Given the description of an element on the screen output the (x, y) to click on. 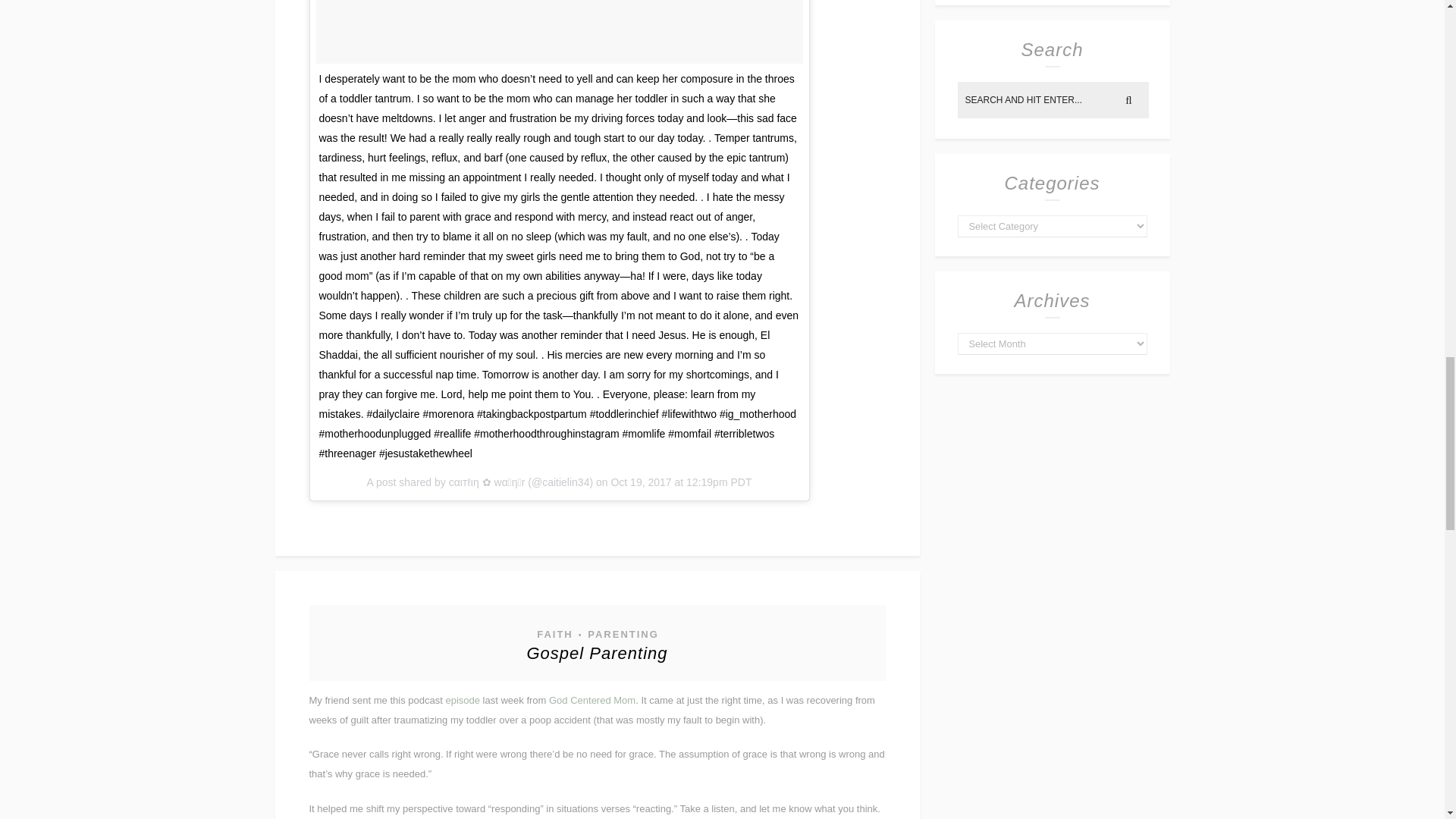
Gospel Parenting (595, 652)
God Centered Mom (591, 699)
Search and hit enter... (1052, 99)
PARENTING (621, 634)
episode (462, 699)
FAITH (553, 634)
Permanent (595, 652)
